Given the description of an element on the screen output the (x, y) to click on. 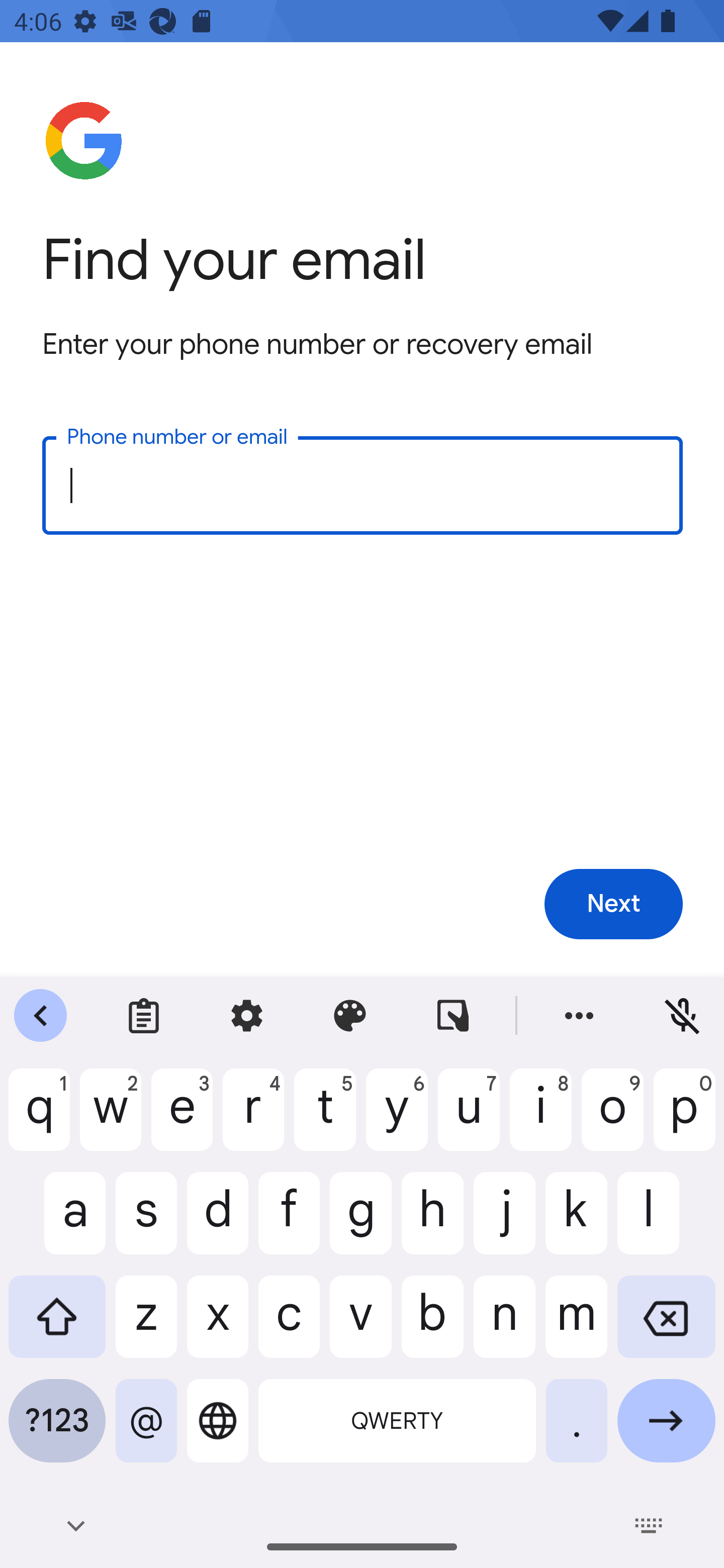
Next (613, 904)
